Given the description of an element on the screen output the (x, y) to click on. 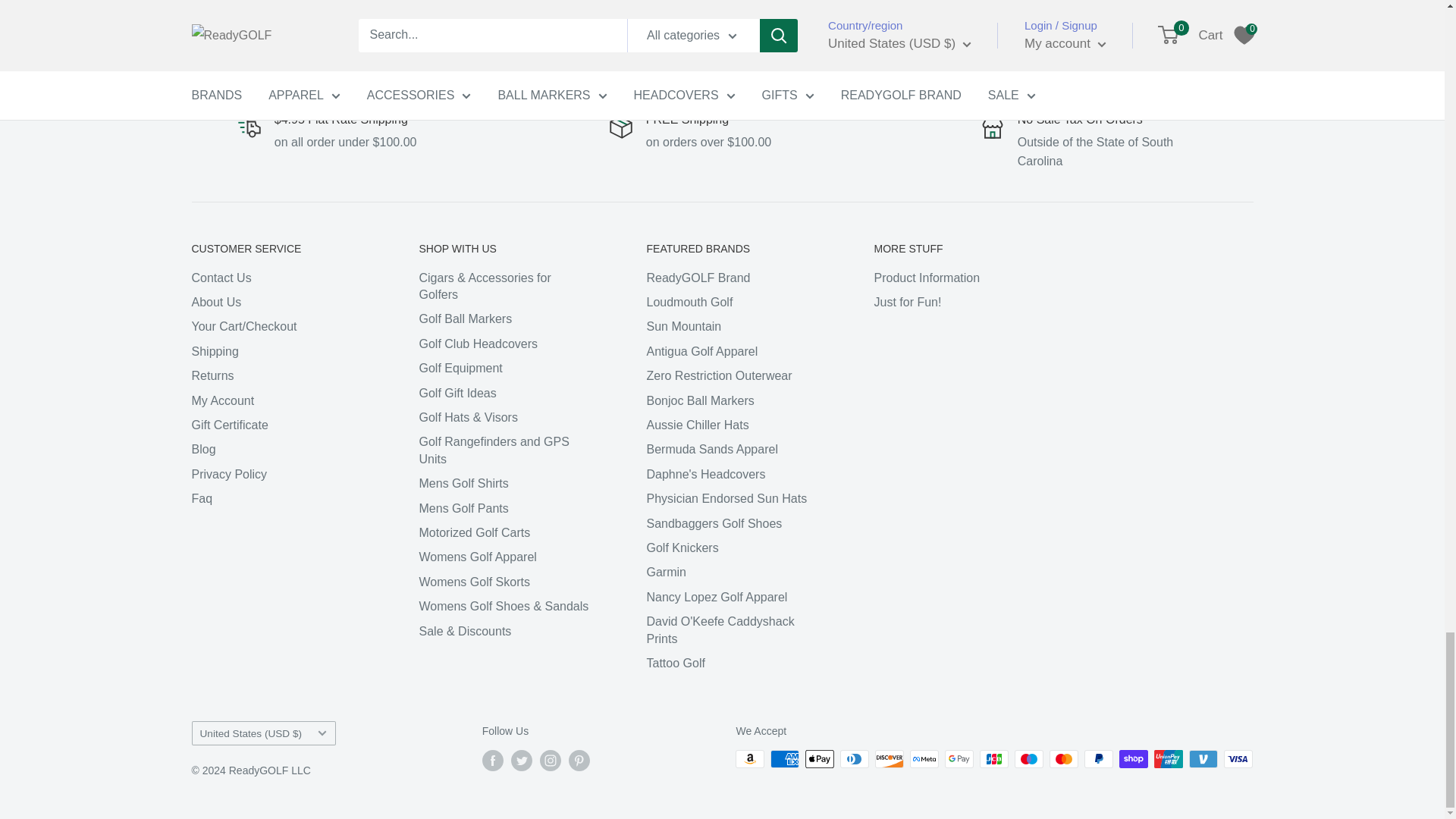
Navigate to page 3 (836, 9)
Next (1209, 9)
Navigate to page 2 (810, 9)
Navigate to page 71 (897, 9)
